Given the description of an element on the screen output the (x, y) to click on. 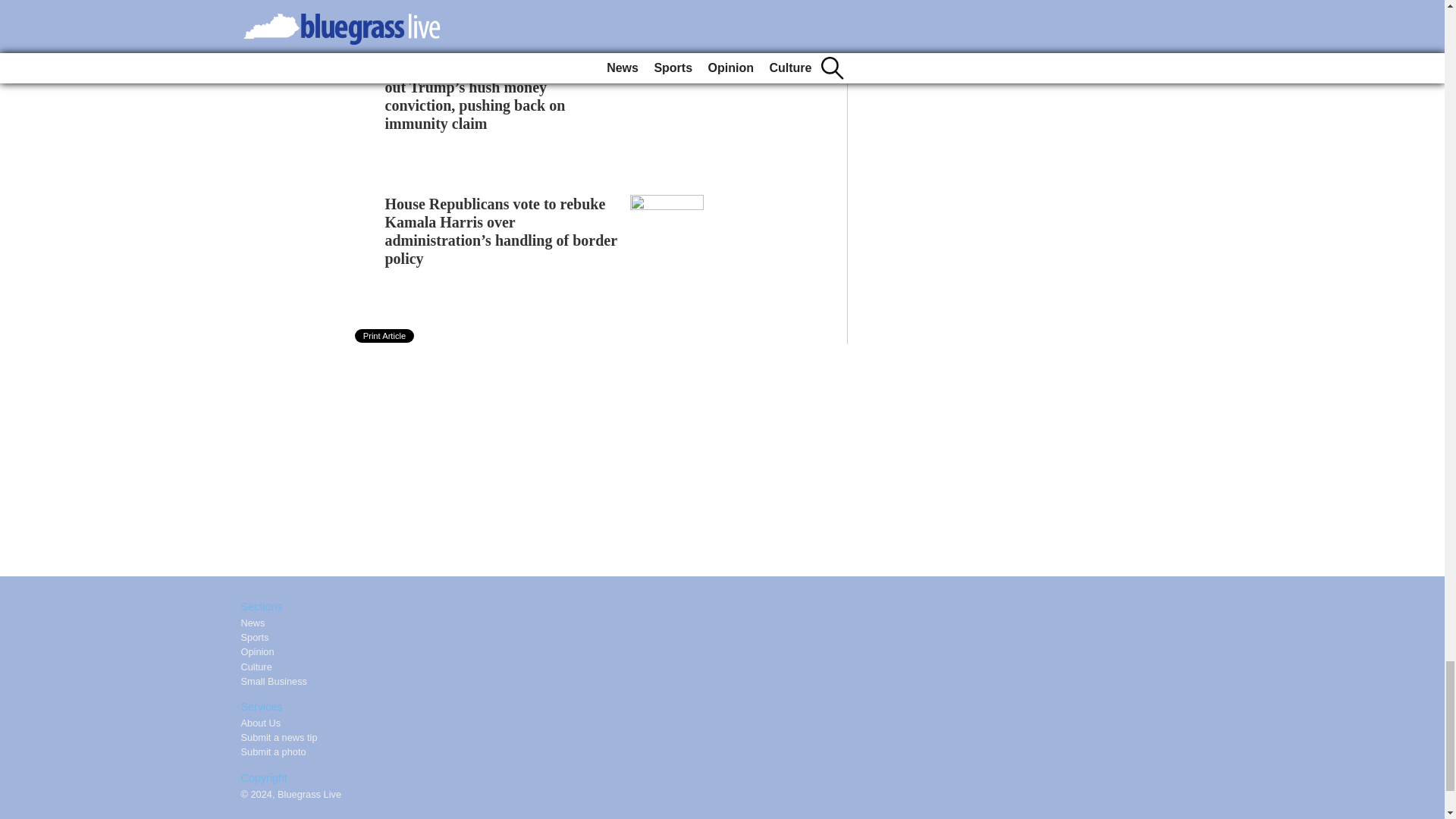
Submit a photo (273, 751)
News (252, 622)
Culture (256, 666)
Print Article (384, 336)
Small Business (274, 681)
About Us (261, 722)
Sports (255, 636)
Submit a news tip (279, 737)
Opinion (258, 651)
